Given the description of an element on the screen output the (x, y) to click on. 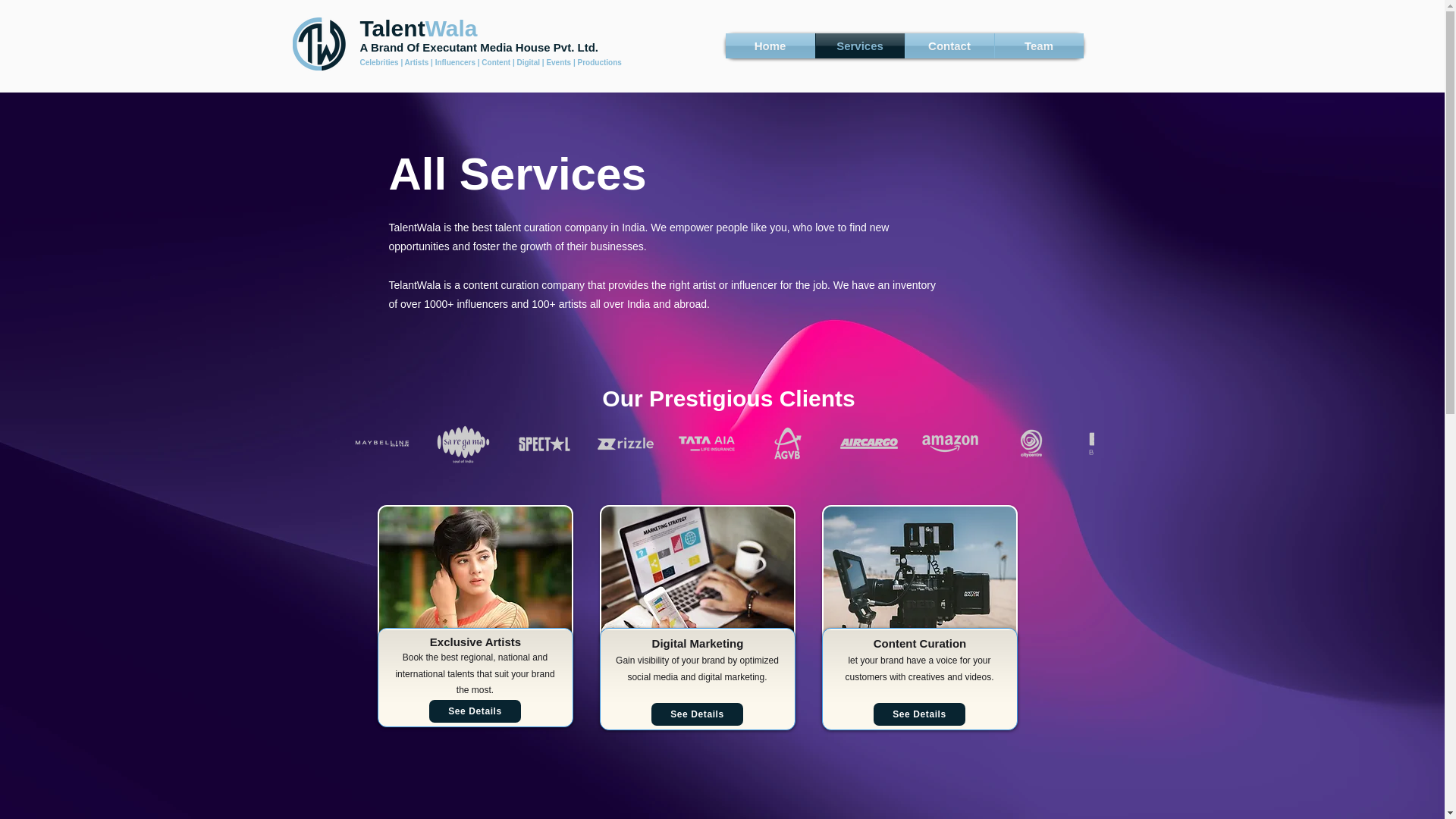
See Details (475, 711)
Team (1038, 45)
See Details (696, 713)
Services (859, 45)
See Details (919, 713)
Contact (949, 45)
Home (769, 45)
